Given the description of an element on the screen output the (x, y) to click on. 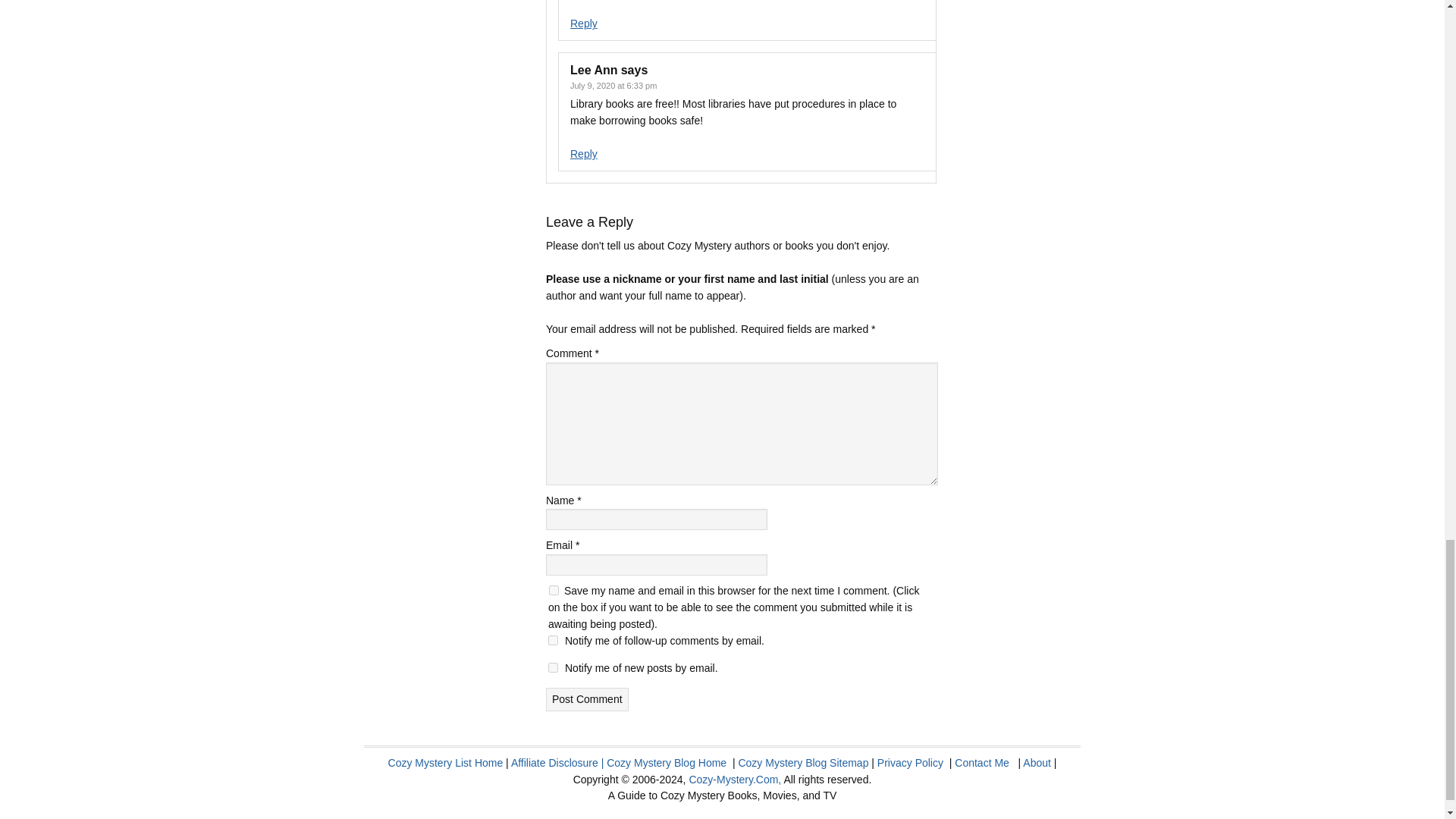
yes (553, 590)
subscribe (552, 667)
Post Comment (587, 699)
July 9, 2020 at 6:33 pm (613, 85)
Reply (583, 23)
Post Comment (587, 699)
Reply (583, 153)
subscribe (552, 640)
